Given the description of an element on the screen output the (x, y) to click on. 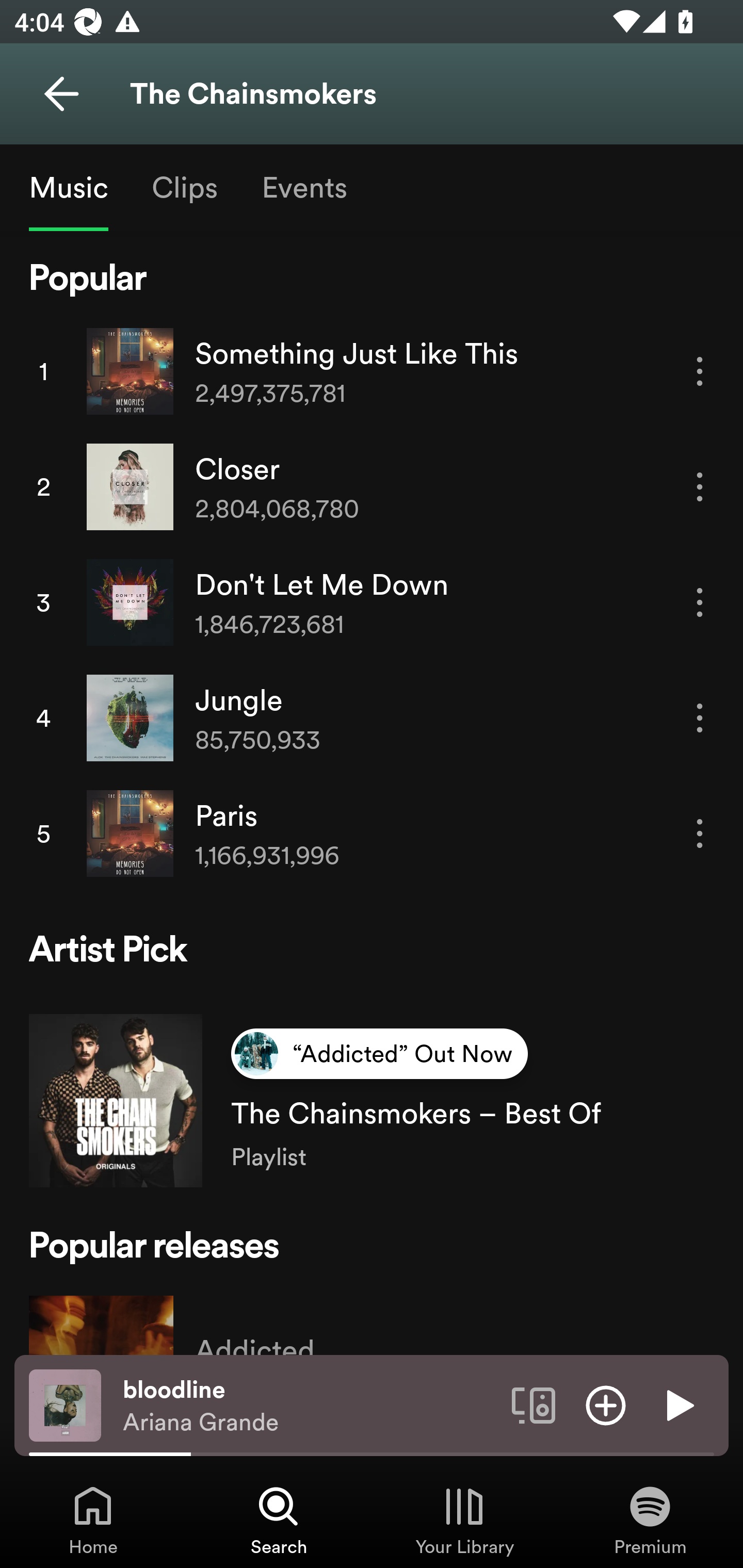
Back (60, 93)
Clips (184, 187)
Events (303, 187)
More options for song Something Just Like This (699, 370)
More options for song Closer (699, 486)
More options for song Don't Let Me Down (699, 602)
4 Jungle 85,750,933 More options for song Jungle (371, 718)
More options for song Jungle (699, 718)
5 Paris 1,166,931,996 More options for song Paris (371, 833)
More options for song Paris (699, 833)
bloodline Ariana Grande (309, 1405)
The cover art of the currently playing track (64, 1404)
Connect to a device. Opens the devices menu (533, 1404)
Add item (605, 1404)
Play (677, 1404)
Home, Tab 1 of 4 Home Home (92, 1519)
Search, Tab 2 of 4 Search Search (278, 1519)
Your Library, Tab 3 of 4 Your Library Your Library (464, 1519)
Premium, Tab 4 of 4 Premium Premium (650, 1519)
